Given the description of an element on the screen output the (x, y) to click on. 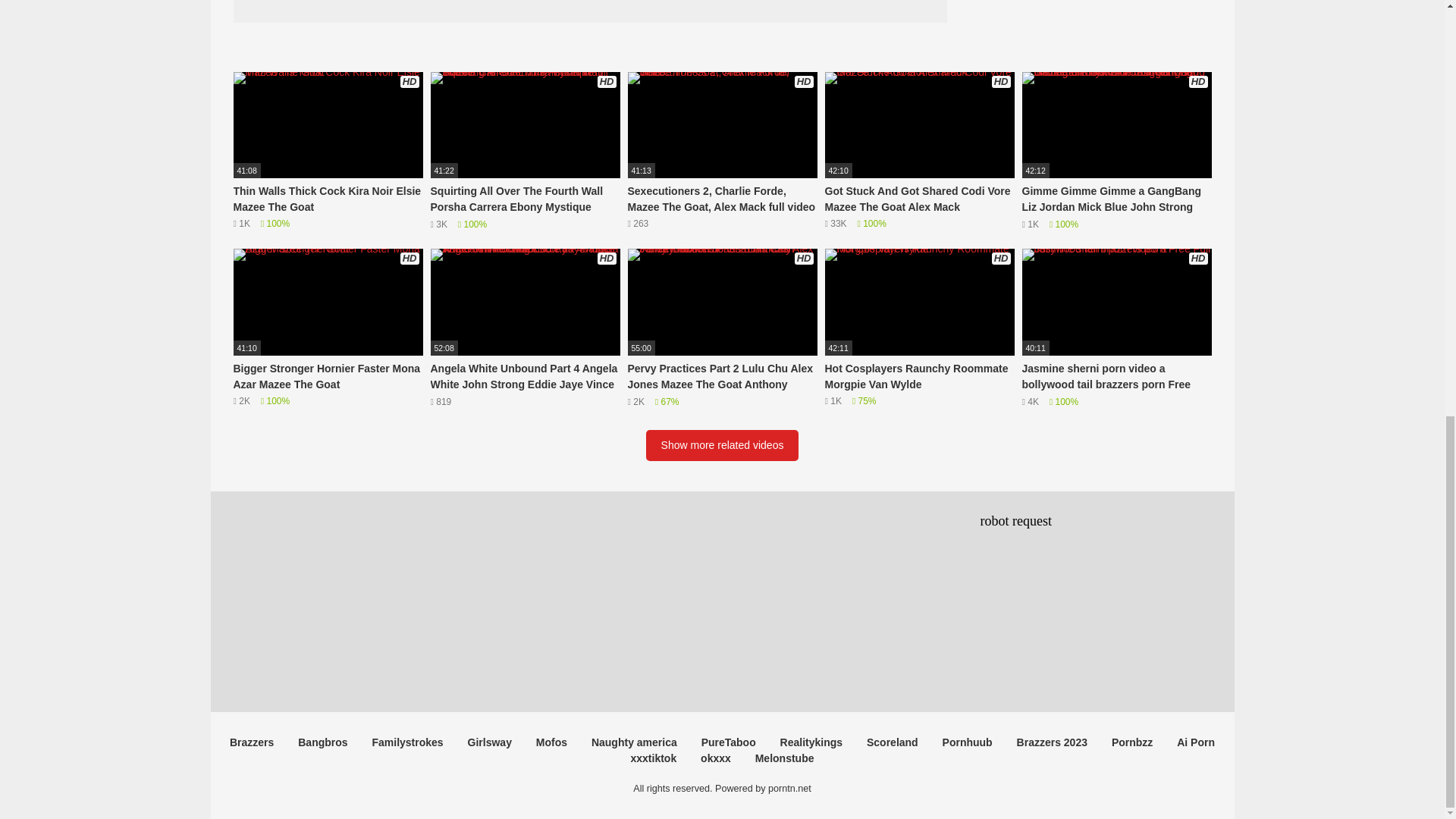
Thin Walls Thick Cock Kira Noir Elsie Mazee The Goat (327, 151)
Got Stuck And Got Shared Codi Vore Mazee The Goat Alex Mack (919, 151)
Bigger Stronger Hornier Faster Mona Azar Mazee The Goat (327, 328)
